Given the description of an element on the screen output the (x, y) to click on. 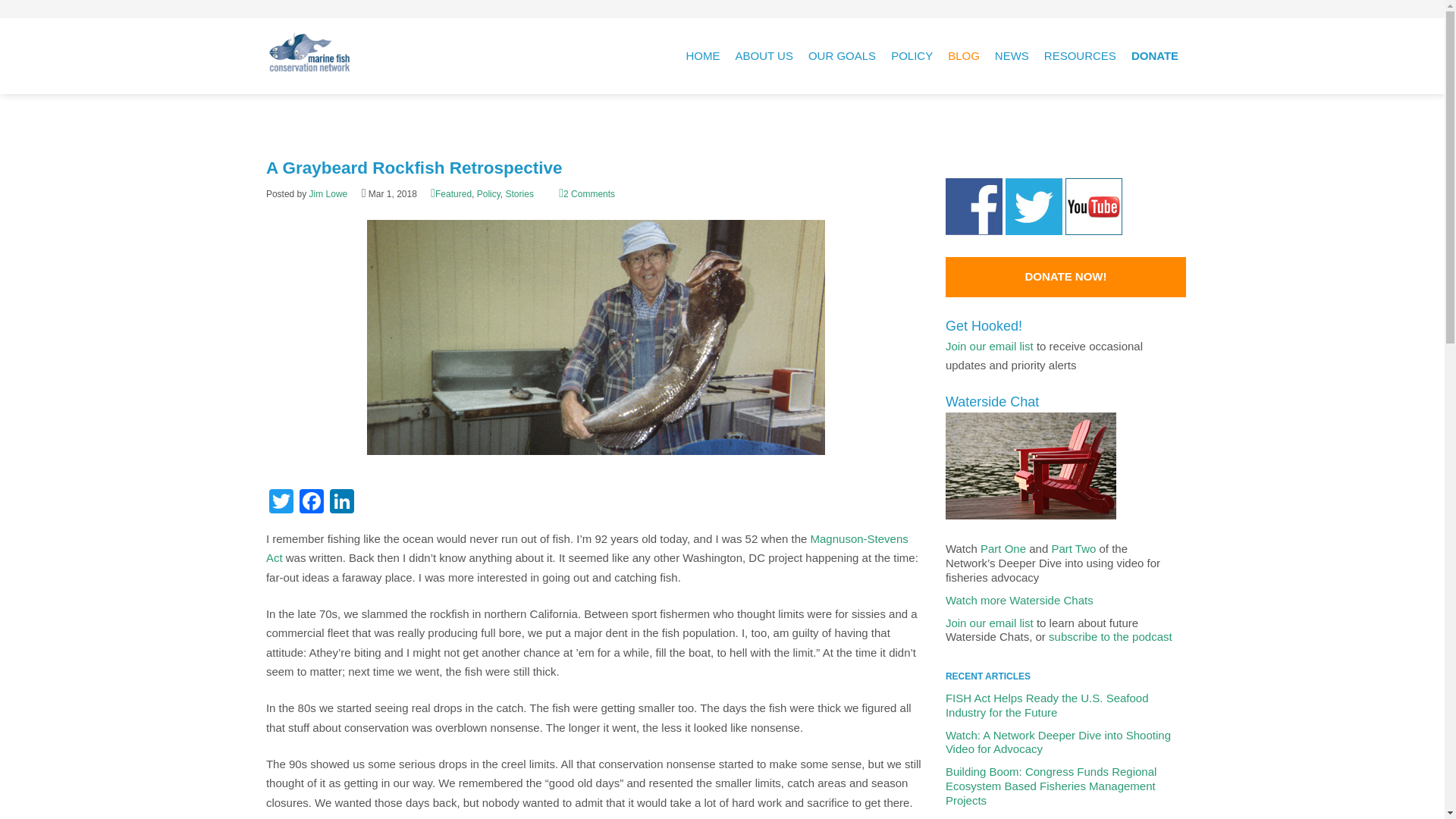
Facebook (311, 502)
HOME (702, 56)
Featured (450, 194)
Twitter (281, 502)
2 Comments (586, 194)
OUR GOALS (842, 56)
ABOUT US (764, 56)
donate (1154, 56)
BLOG (963, 56)
Stories (519, 194)
DONATE (1154, 56)
Magnuson-Stevens Act (587, 548)
NEWS (1011, 56)
Facebook (311, 502)
Policy (488, 194)
